Given the description of an element on the screen output the (x, y) to click on. 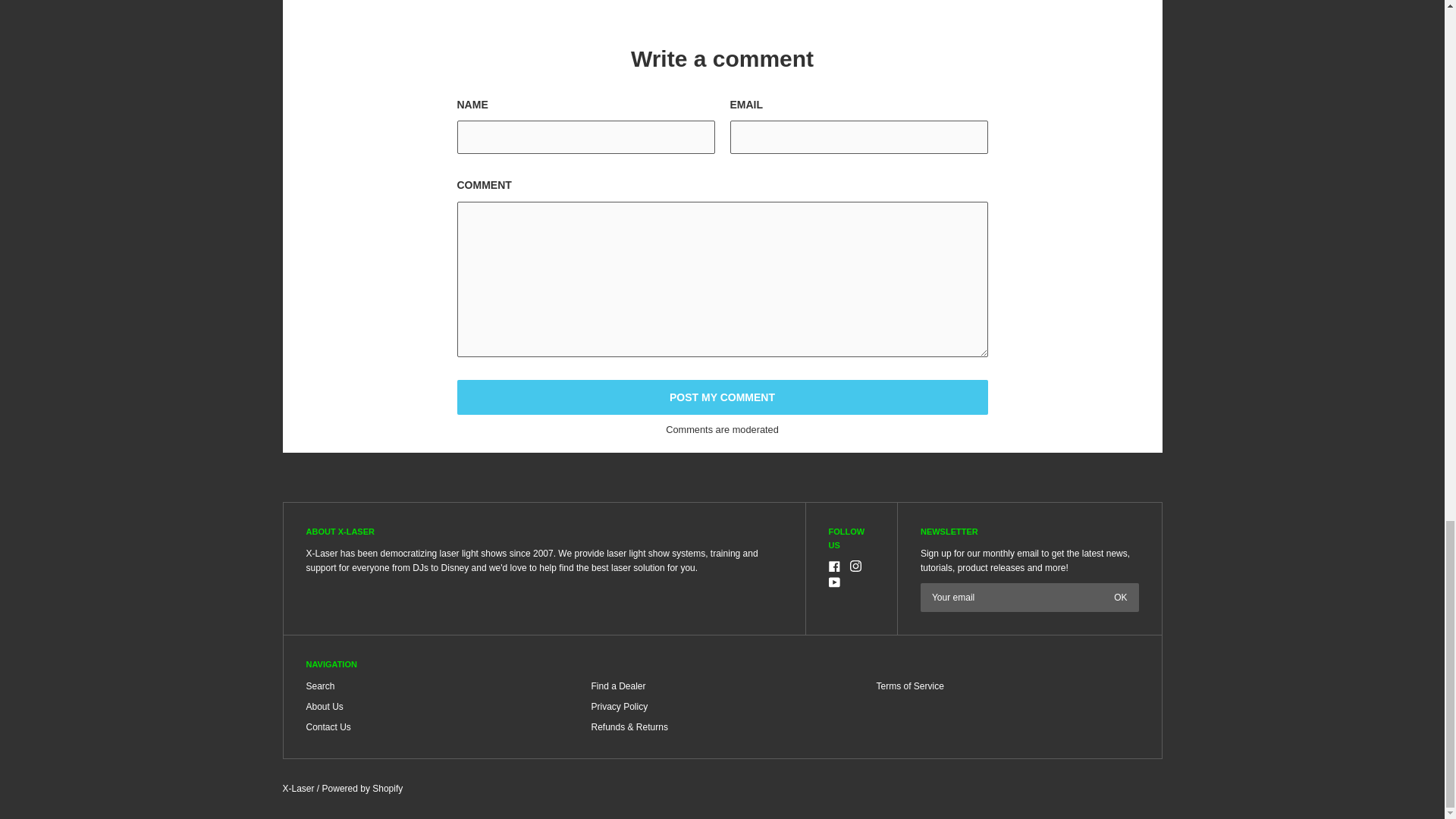
Instagram (855, 565)
Post my comment (722, 397)
OK (1120, 597)
Facebook (834, 565)
YouTube (834, 582)
